Given the description of an element on the screen output the (x, y) to click on. 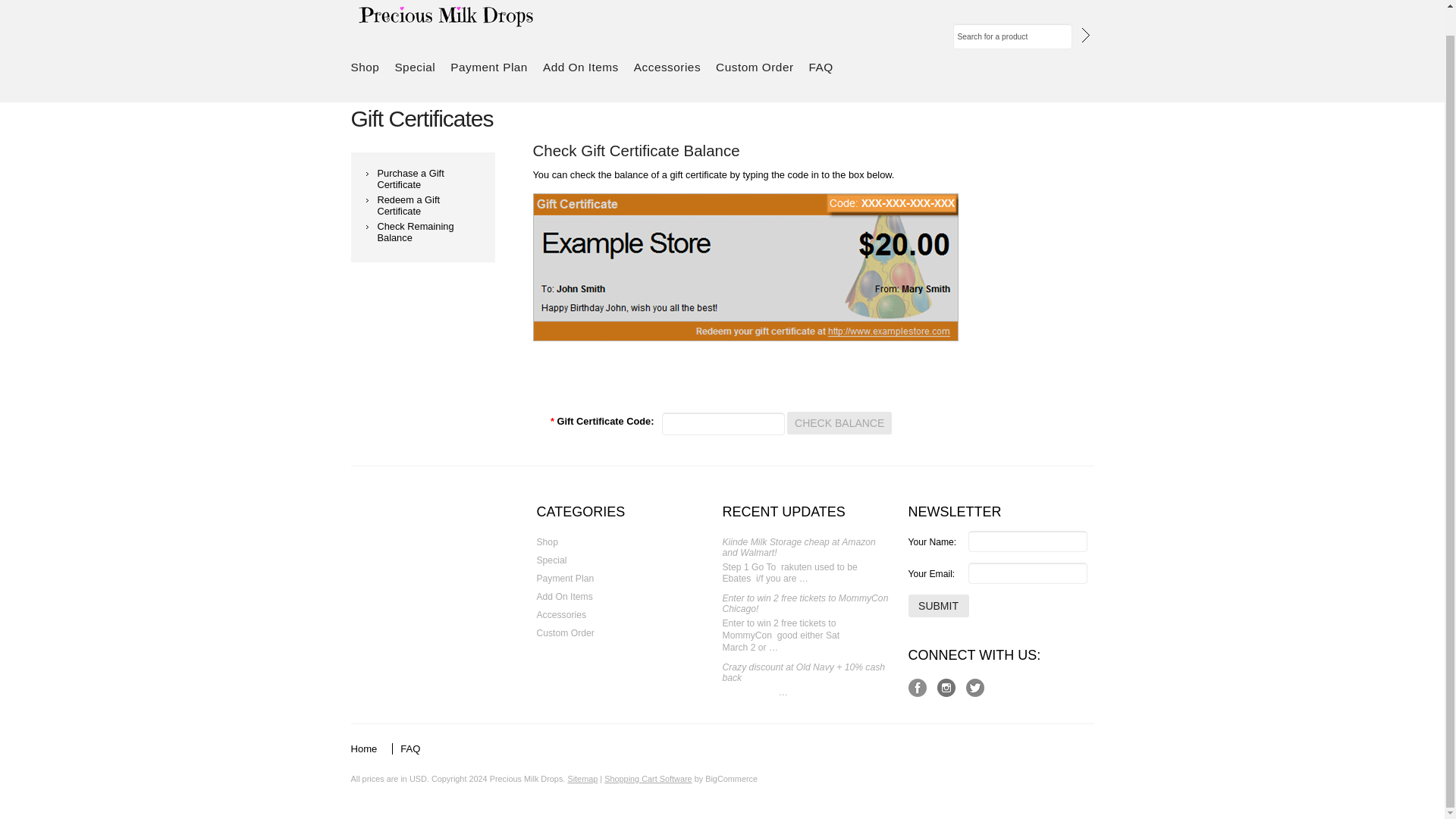
Add On Items (584, 67)
Check Balance (839, 422)
Facebook (917, 687)
Instagram (946, 687)
US Dollars (417, 777)
Custom Order (758, 67)
Search for a product (1011, 36)
Special (418, 67)
Payment Plan (492, 67)
Purchase a Gift Certificate (410, 178)
